Given the description of an element on the screen output the (x, y) to click on. 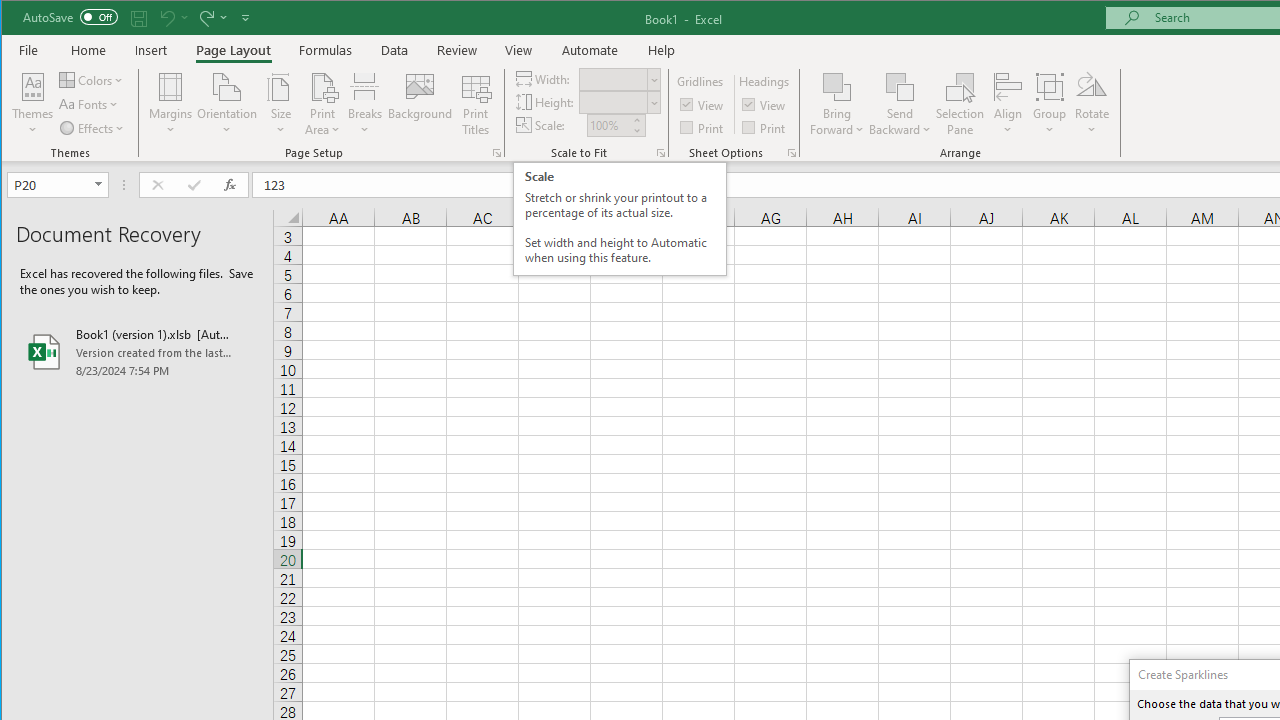
Effects (93, 127)
Orientation (226, 104)
Themes (33, 104)
Page Setup (660, 152)
Print (765, 126)
Send Backward (900, 86)
Margins (170, 104)
Rotate (1092, 104)
Customize Quick Access Toolbar (245, 17)
